Given the description of an element on the screen output the (x, y) to click on. 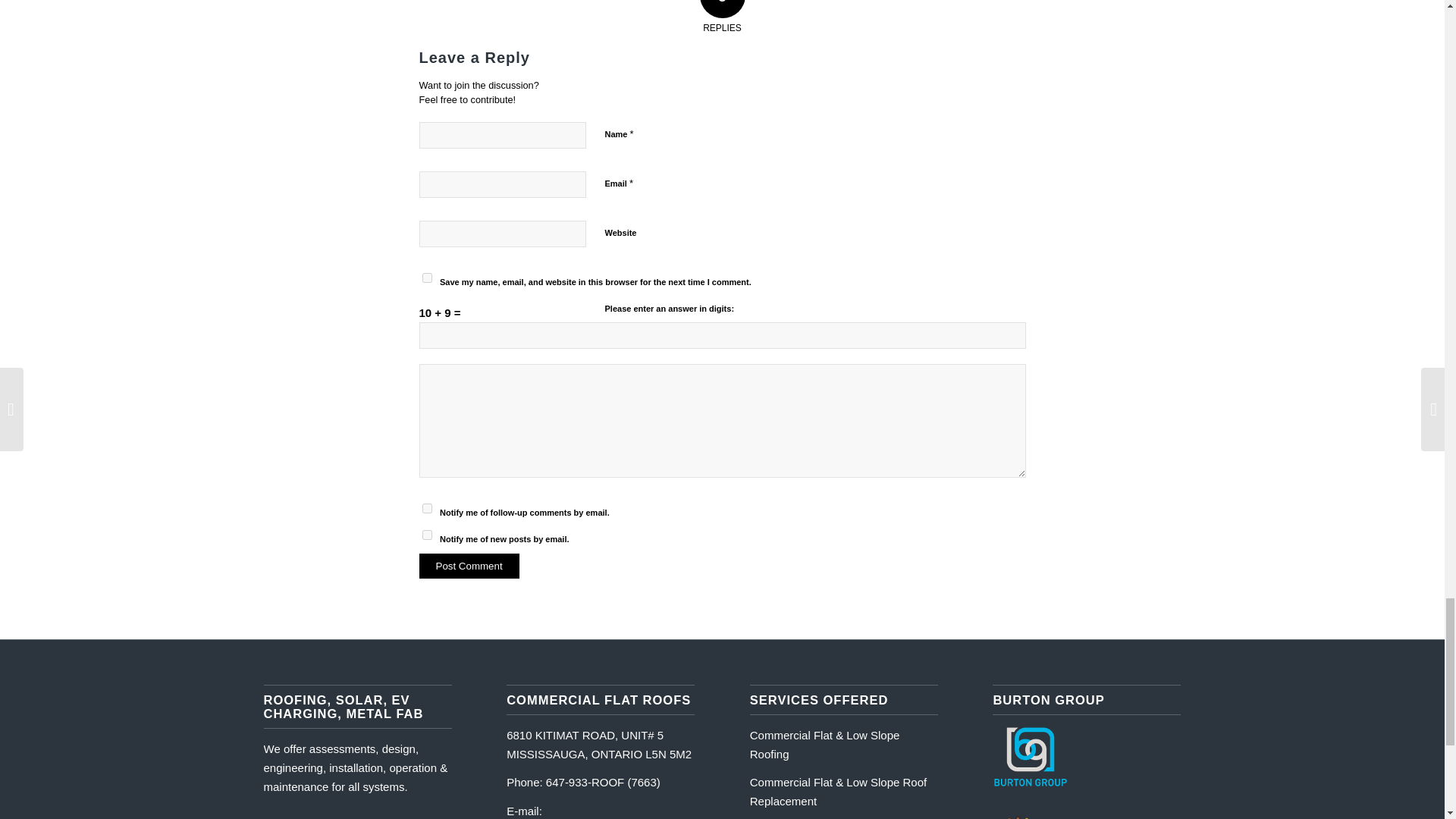
yes (426, 277)
Post Comment (468, 565)
subscribe (426, 534)
subscribe (426, 508)
